Given the description of an element on the screen output the (x, y) to click on. 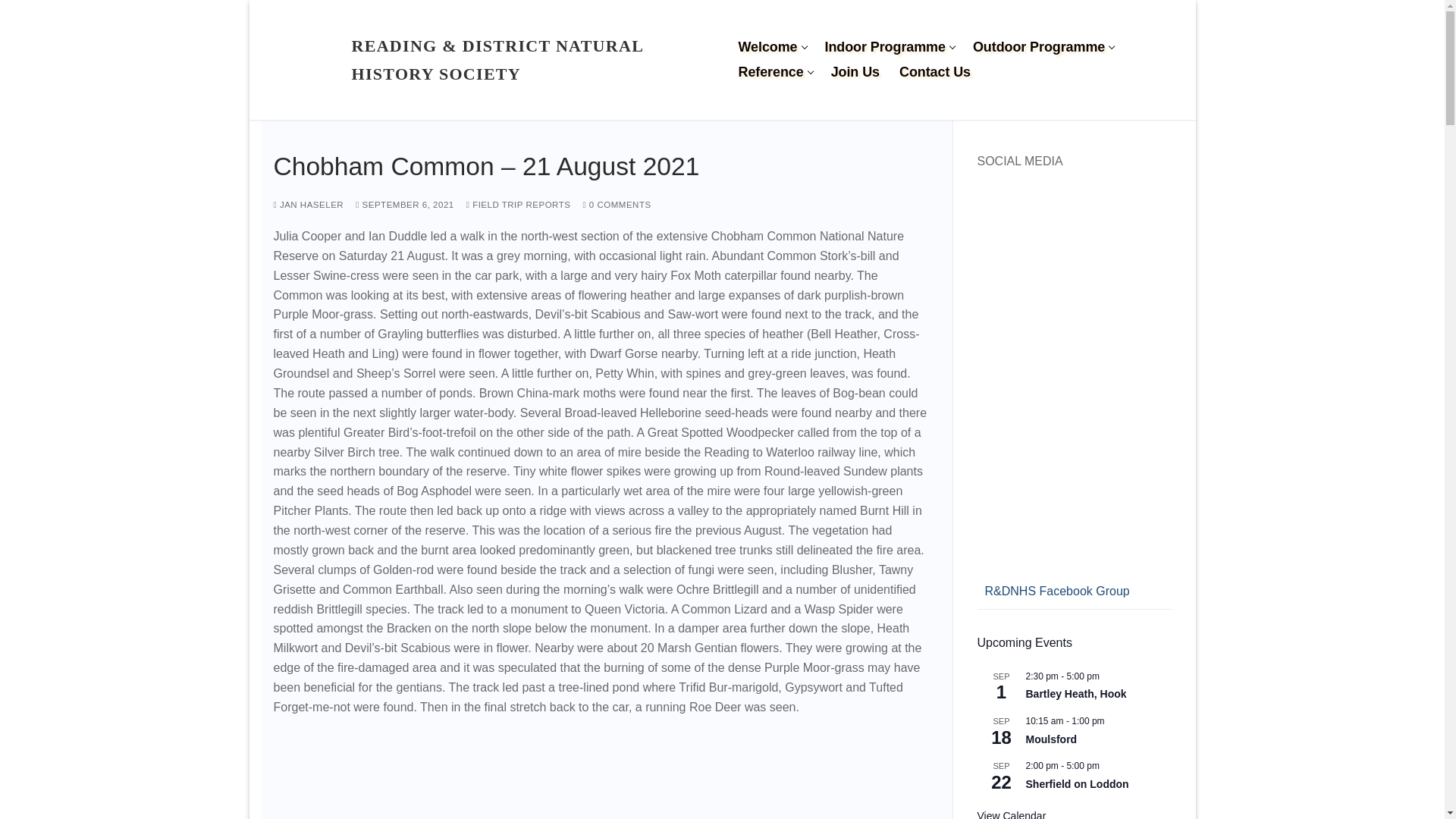
Sherfield on Loddon (1076, 784)
JAN HASELER (308, 204)
Moulsford (887, 47)
0 COMMENTS (1051, 739)
View more events. (616, 204)
Bartley Heath, Hook (1010, 814)
SEPTEMBER 6, 2021 (1075, 694)
Contact Us (404, 204)
